Given the description of an element on the screen output the (x, y) to click on. 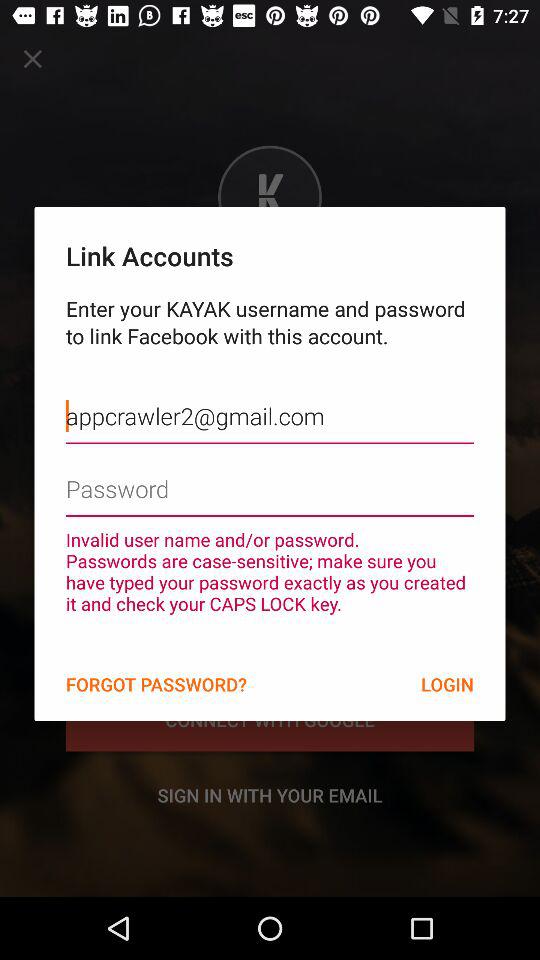
launch the item next to login (156, 683)
